Given the description of an element on the screen output the (x, y) to click on. 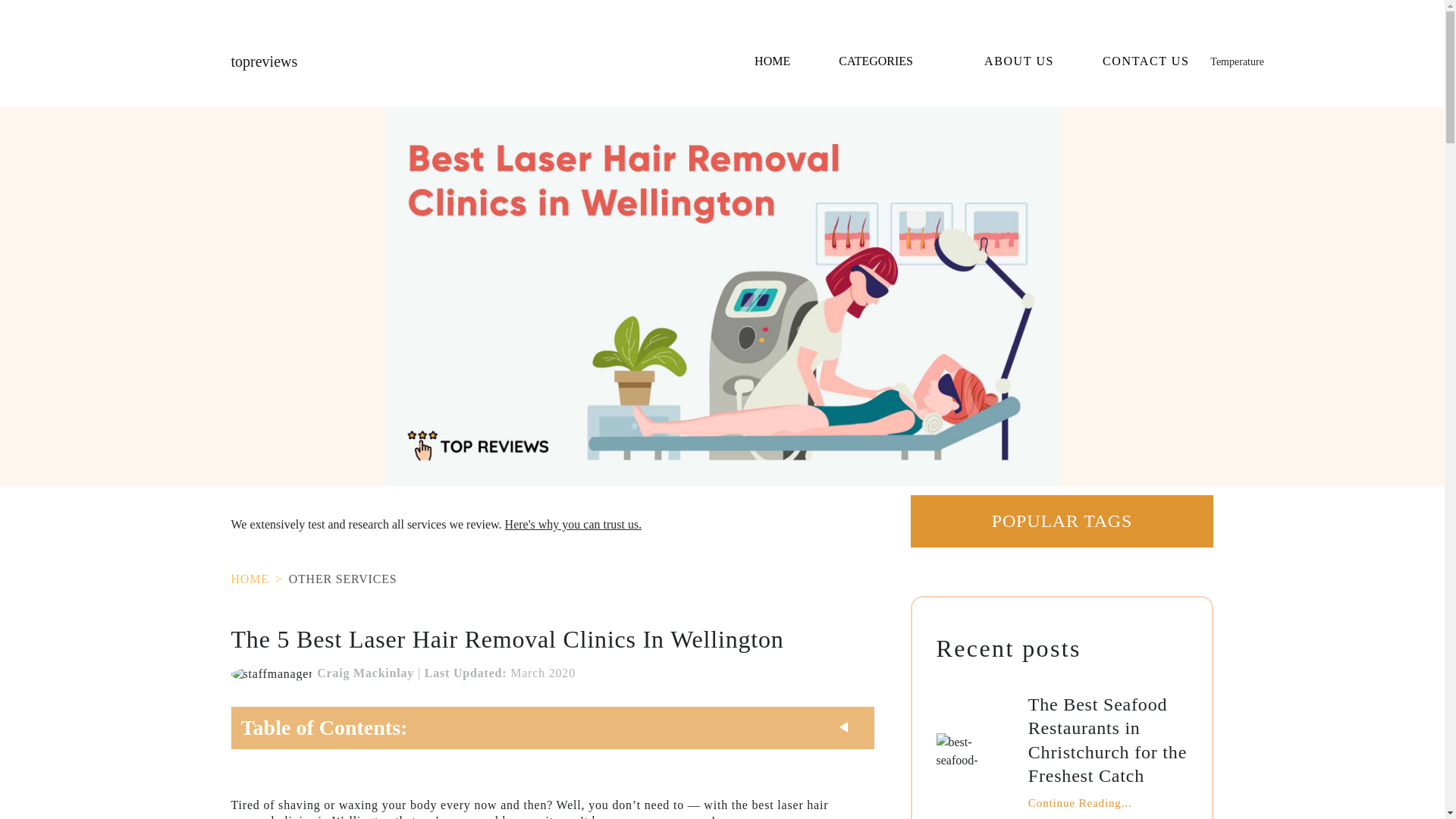
CATEGORIES (887, 60)
View all posts by Craig Mackinlay (273, 672)
Posts by Craig Mackinlay (365, 672)
topreviews (263, 60)
HOME (772, 60)
